Given the description of an element on the screen output the (x, y) to click on. 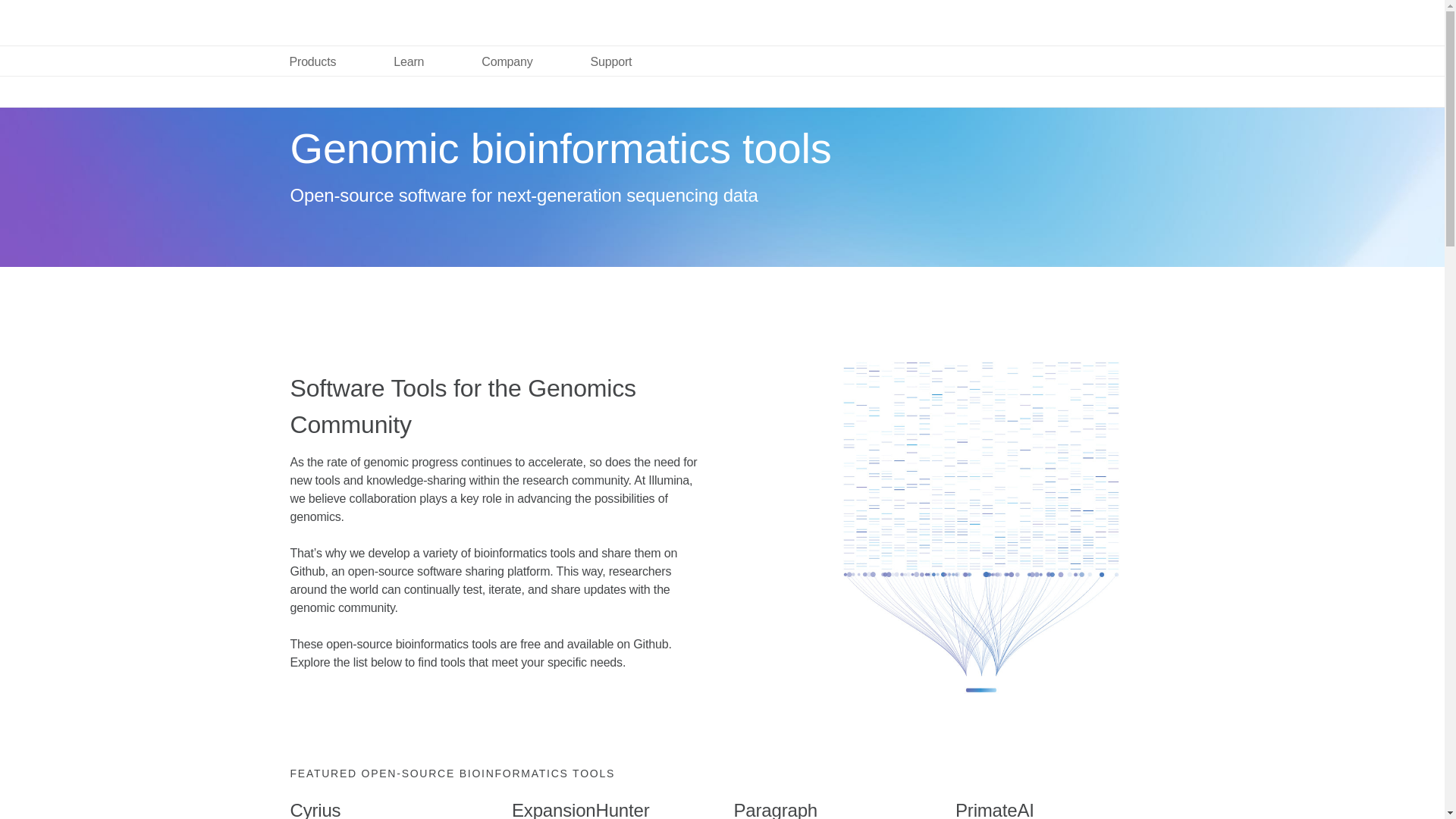
Support (611, 61)
Products (311, 61)
Company (506, 61)
Learn (408, 61)
